Given the description of an element on the screen output the (x, y) to click on. 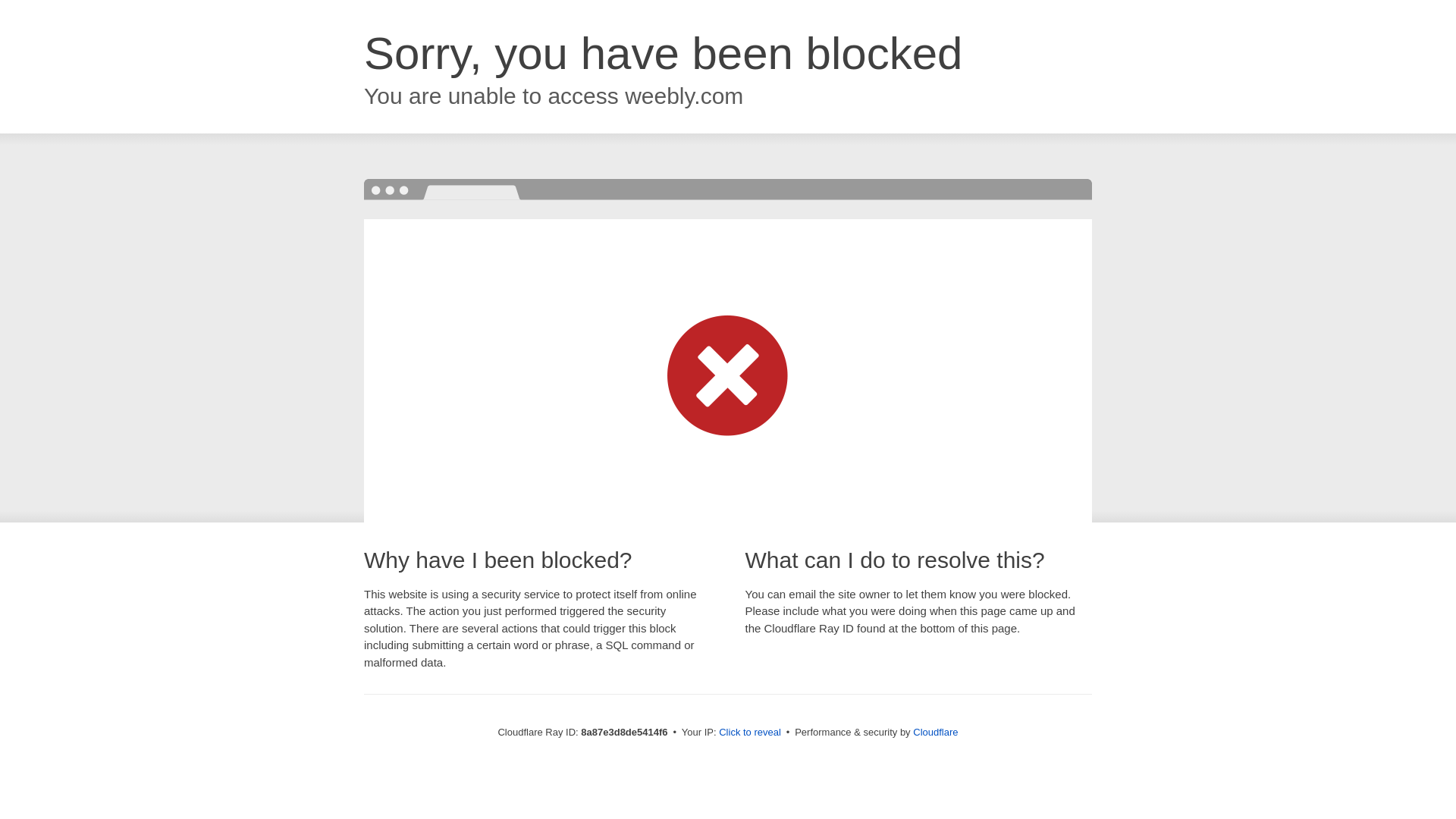
Click to reveal (749, 732)
Cloudflare (935, 731)
